Given the description of an element on the screen output the (x, y) to click on. 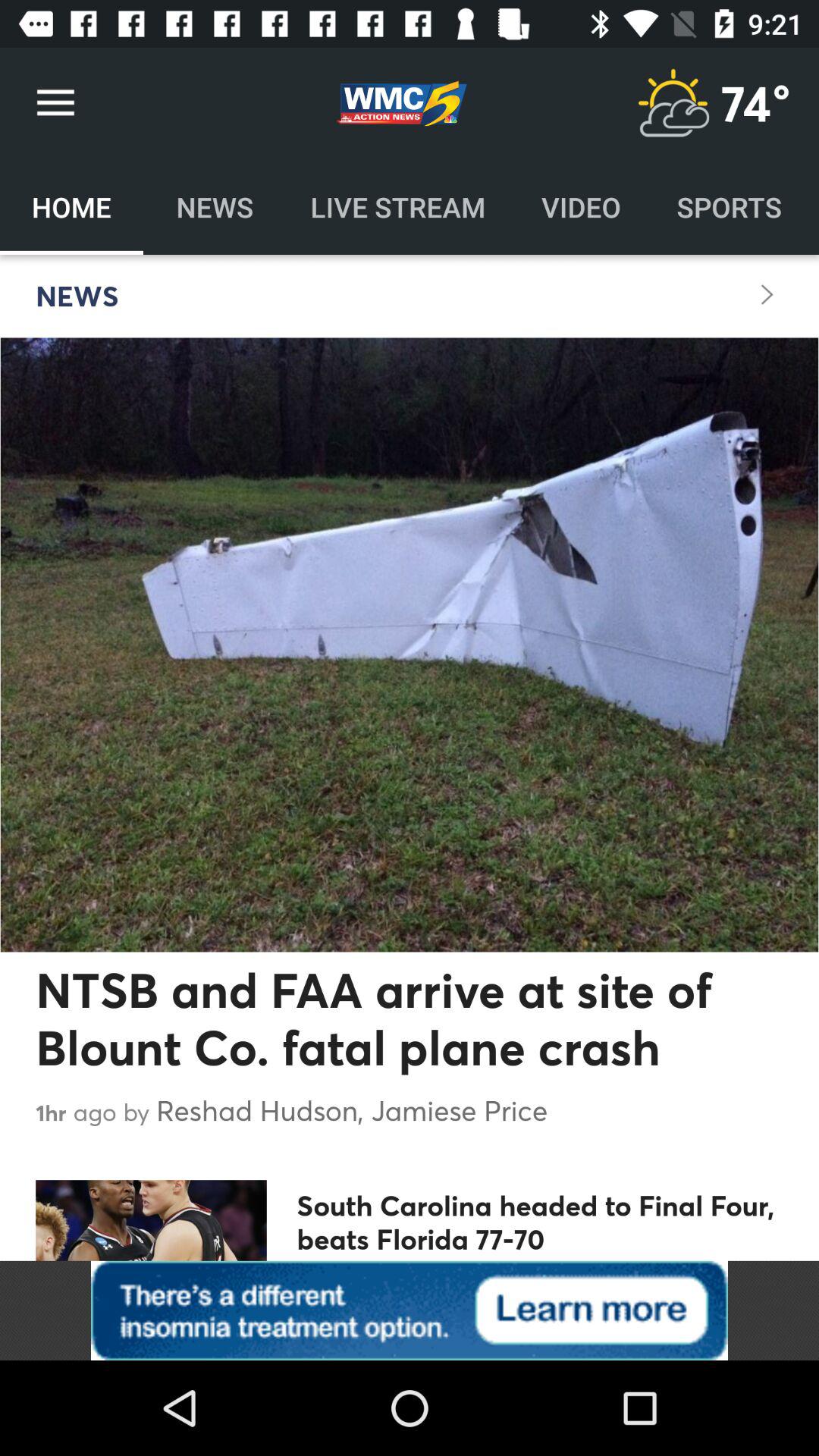
go to advertiser (409, 1310)
